Given the description of an element on the screen output the (x, y) to click on. 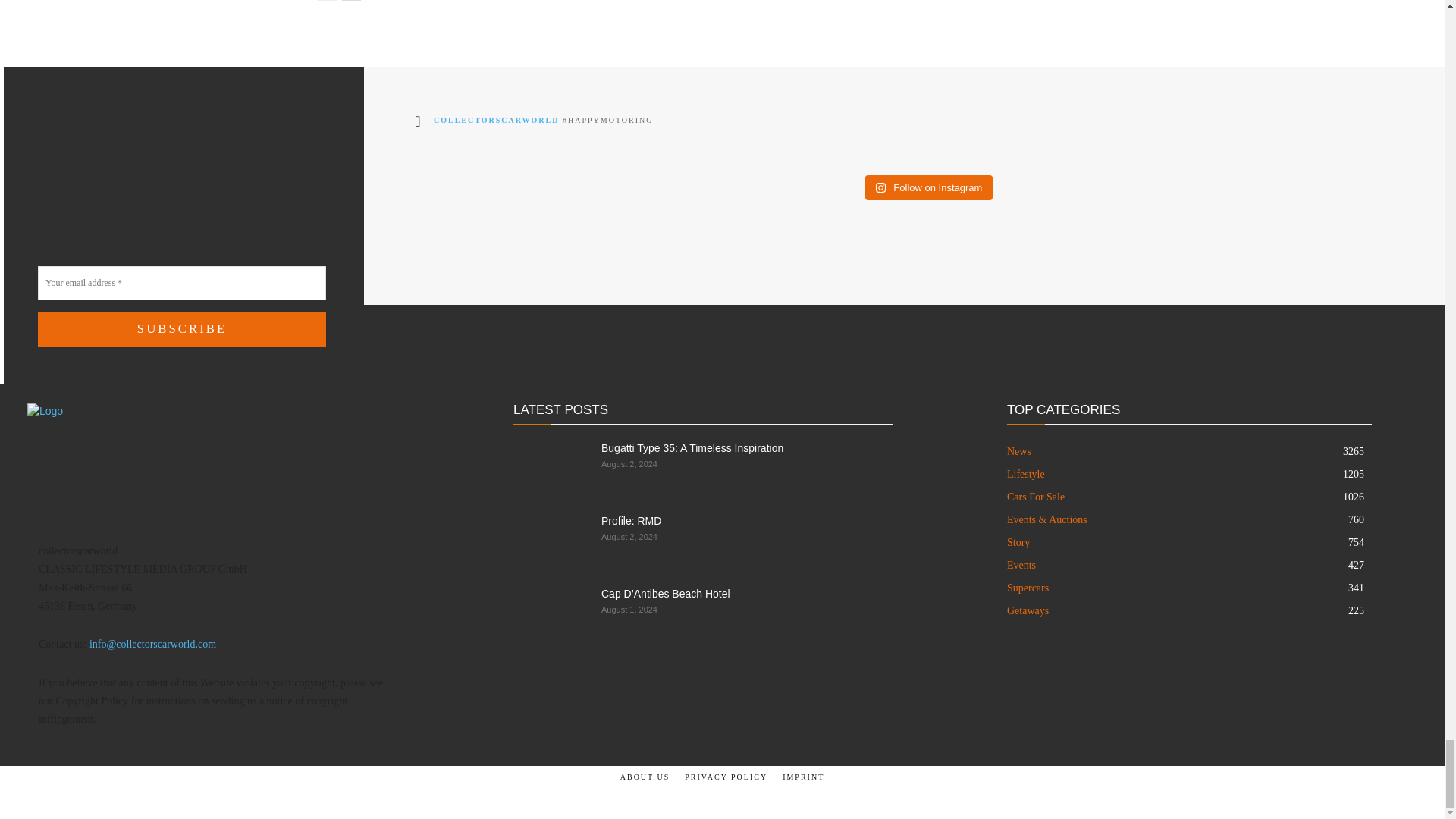
SUBSCRIBE (181, 329)
